Given the description of an element on the screen output the (x, y) to click on. 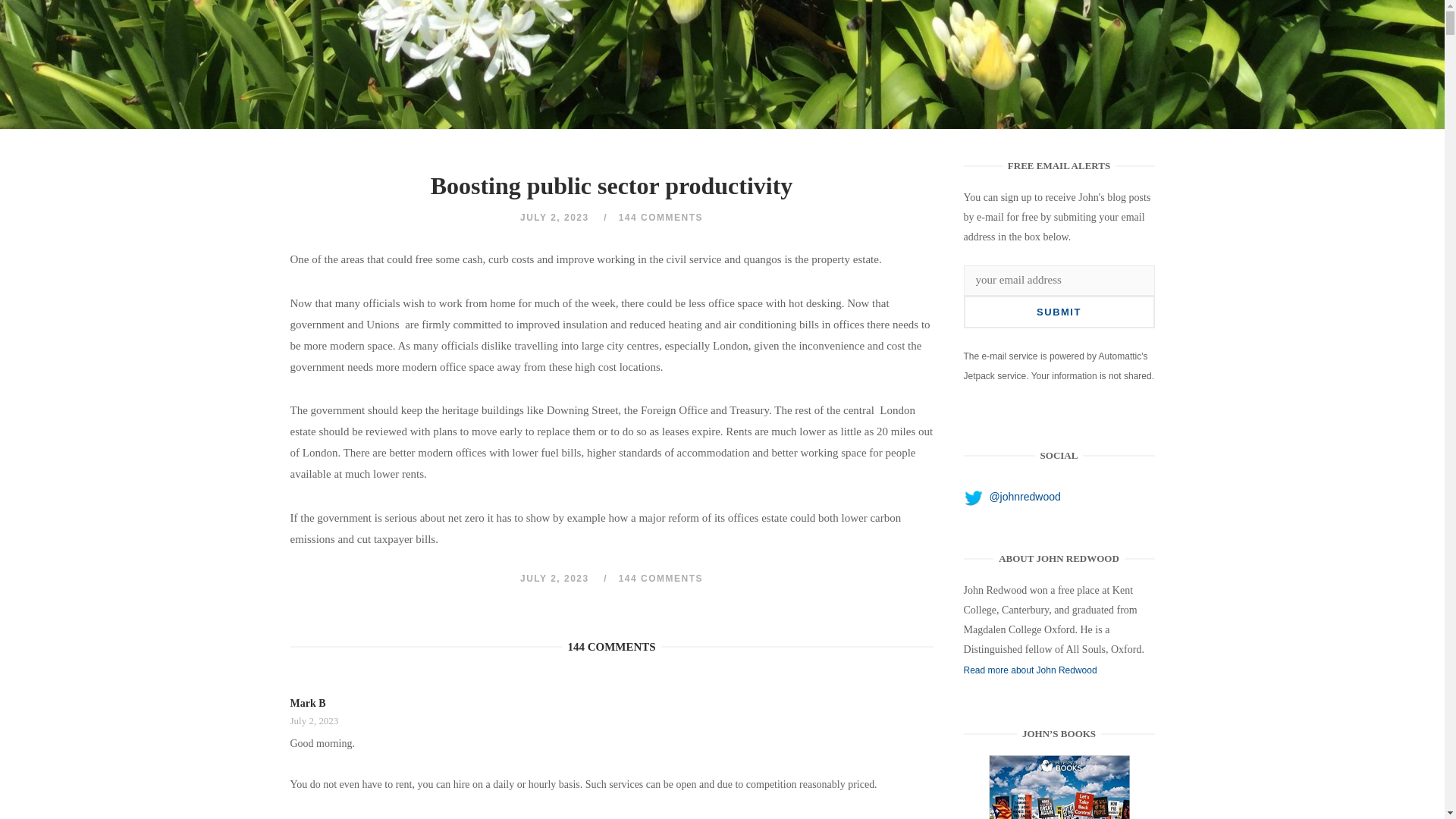
Read more about John Redwood (1030, 670)
Boosting public sector productivity (1058, 787)
Submit (1058, 311)
Search the diary for relevant articles (1142, 107)
Submit (1058, 311)
